Given the description of an element on the screen output the (x, y) to click on. 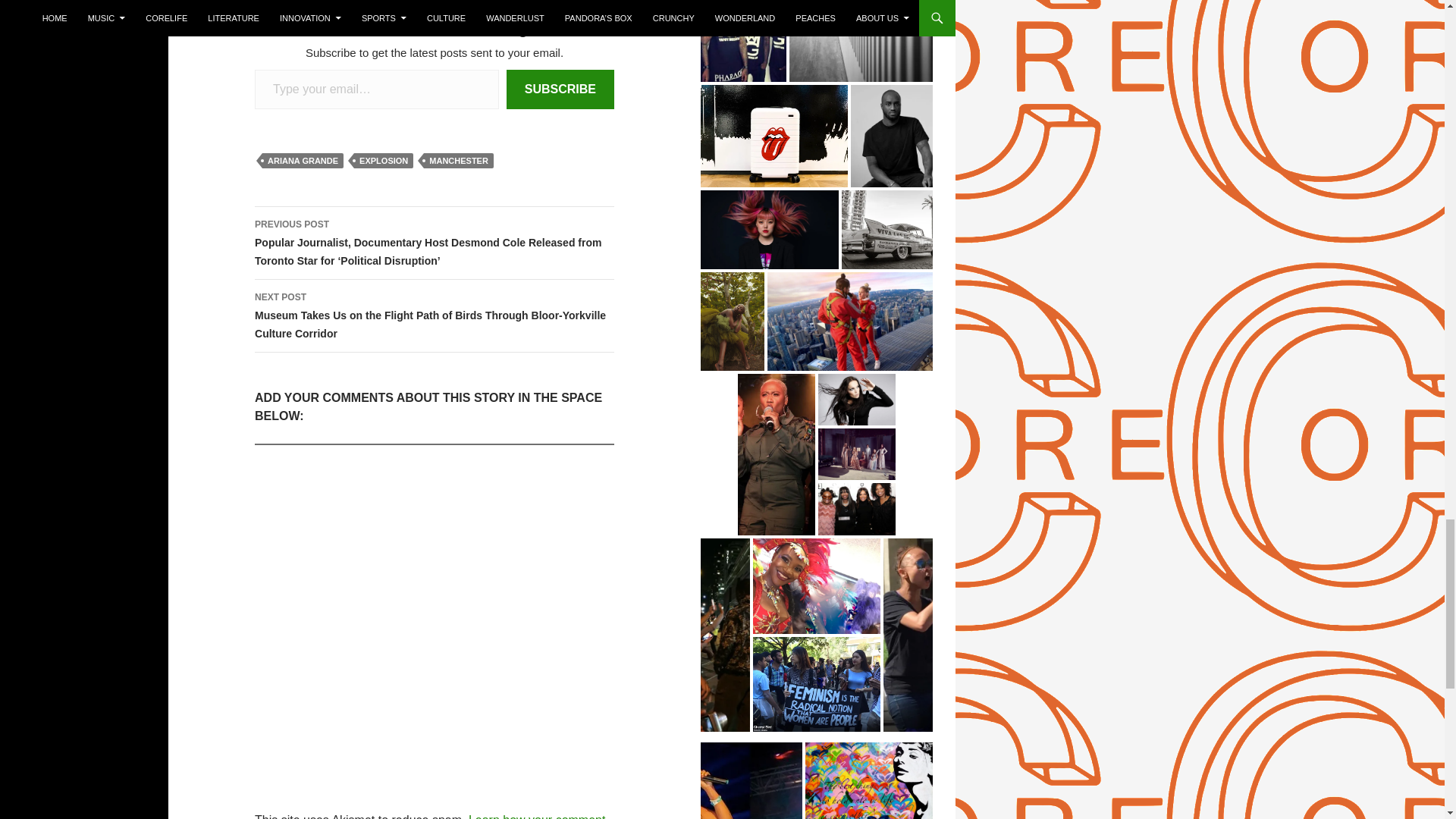
Comment Form (434, 606)
SUBSCRIBE (560, 89)
Please fill in this field. (376, 89)
